Given the description of an element on the screen output the (x, y) to click on. 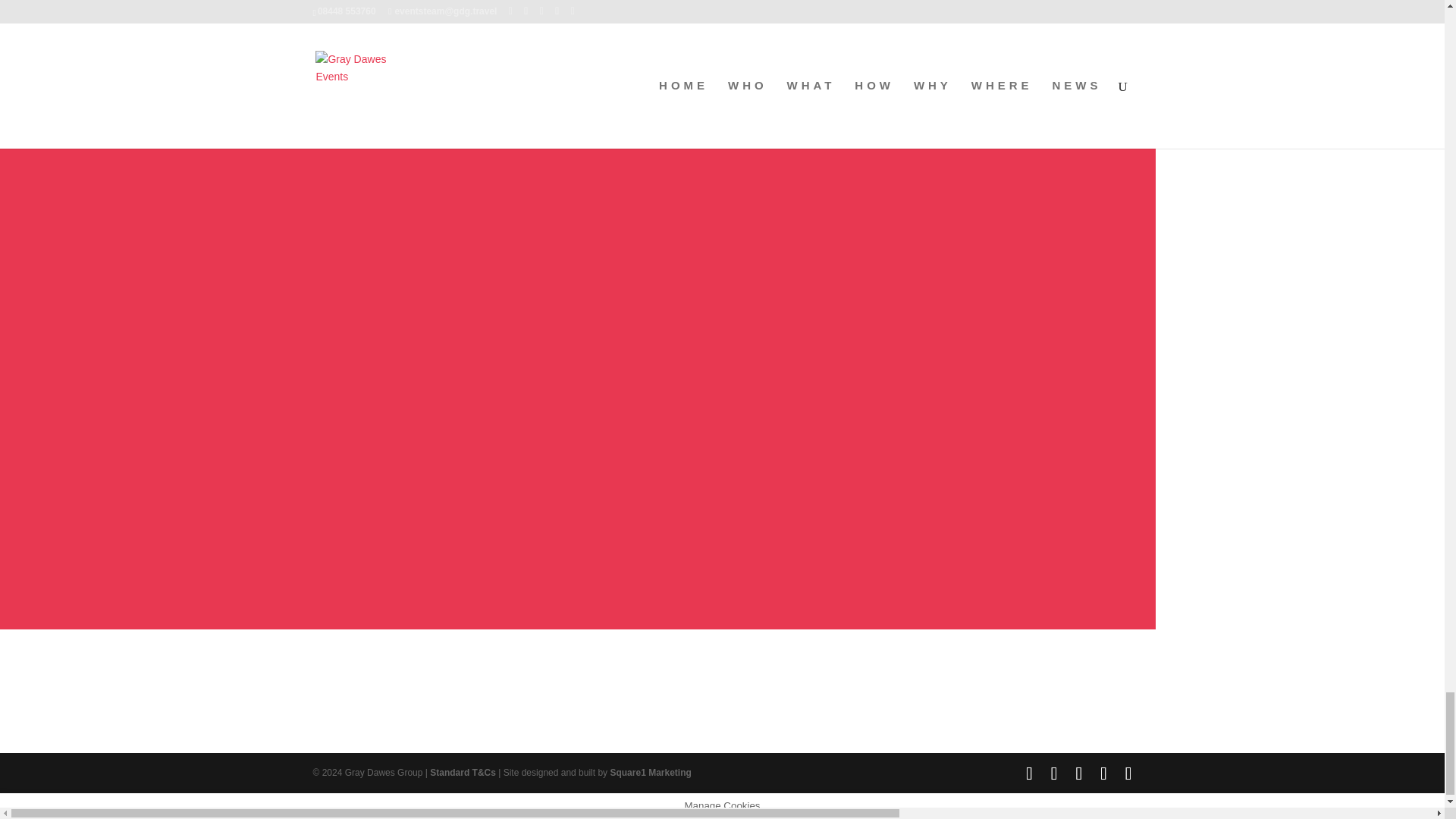
Square1 Marketing (650, 772)
